Given the description of an element on the screen output the (x, y) to click on. 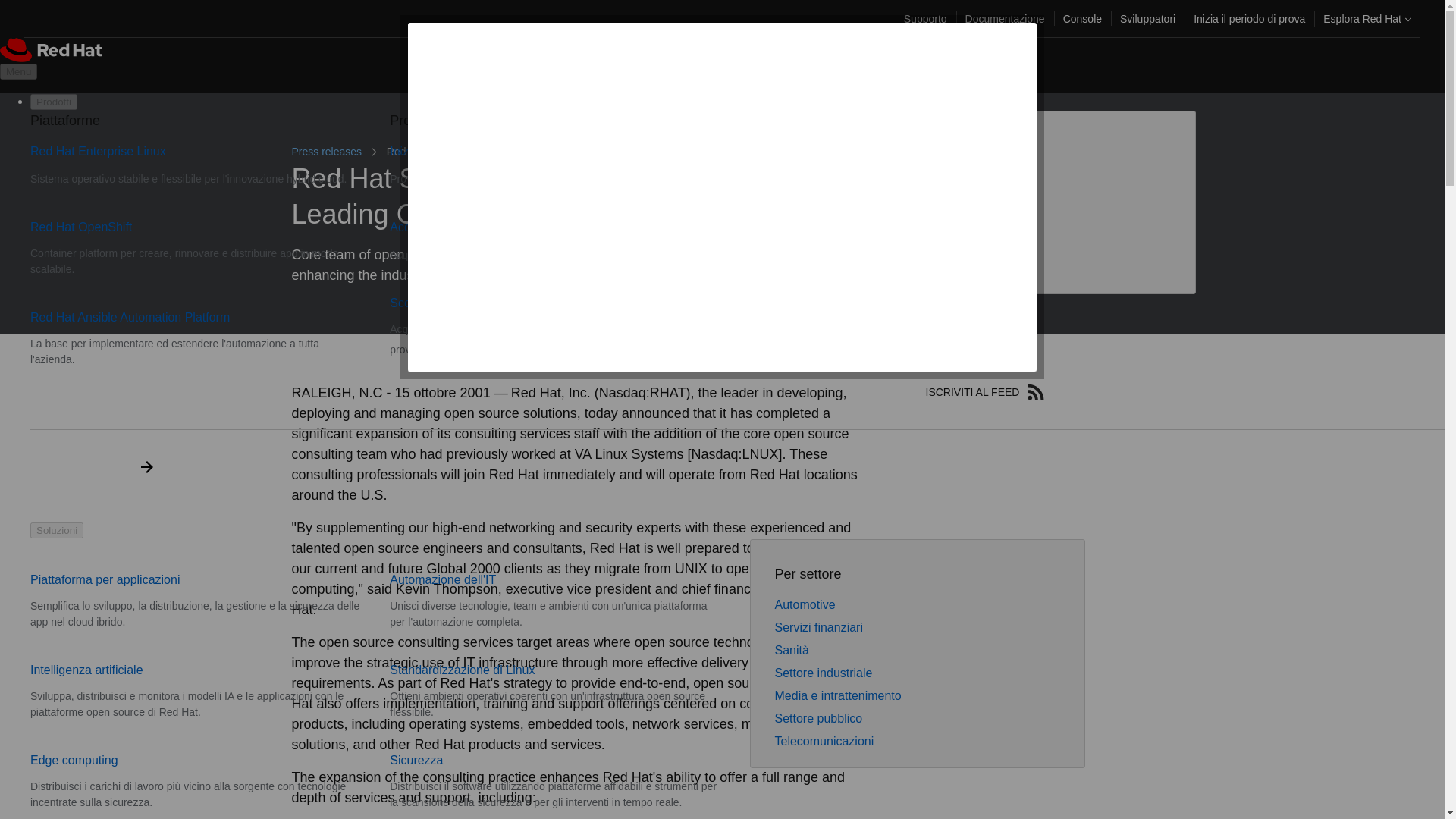
Inizia il periodo di provaProva gratuitamente un prodotto. (531, 165)
Documentazione (1005, 18)
Supporto (925, 18)
Iscriviti al feed (1035, 392)
Inizia il periodo di prova (1249, 18)
Sviluppatori (1147, 18)
Esplora Red Hat (1367, 18)
Console (1082, 18)
press releases (327, 151)
